Given the description of an element on the screen output the (x, y) to click on. 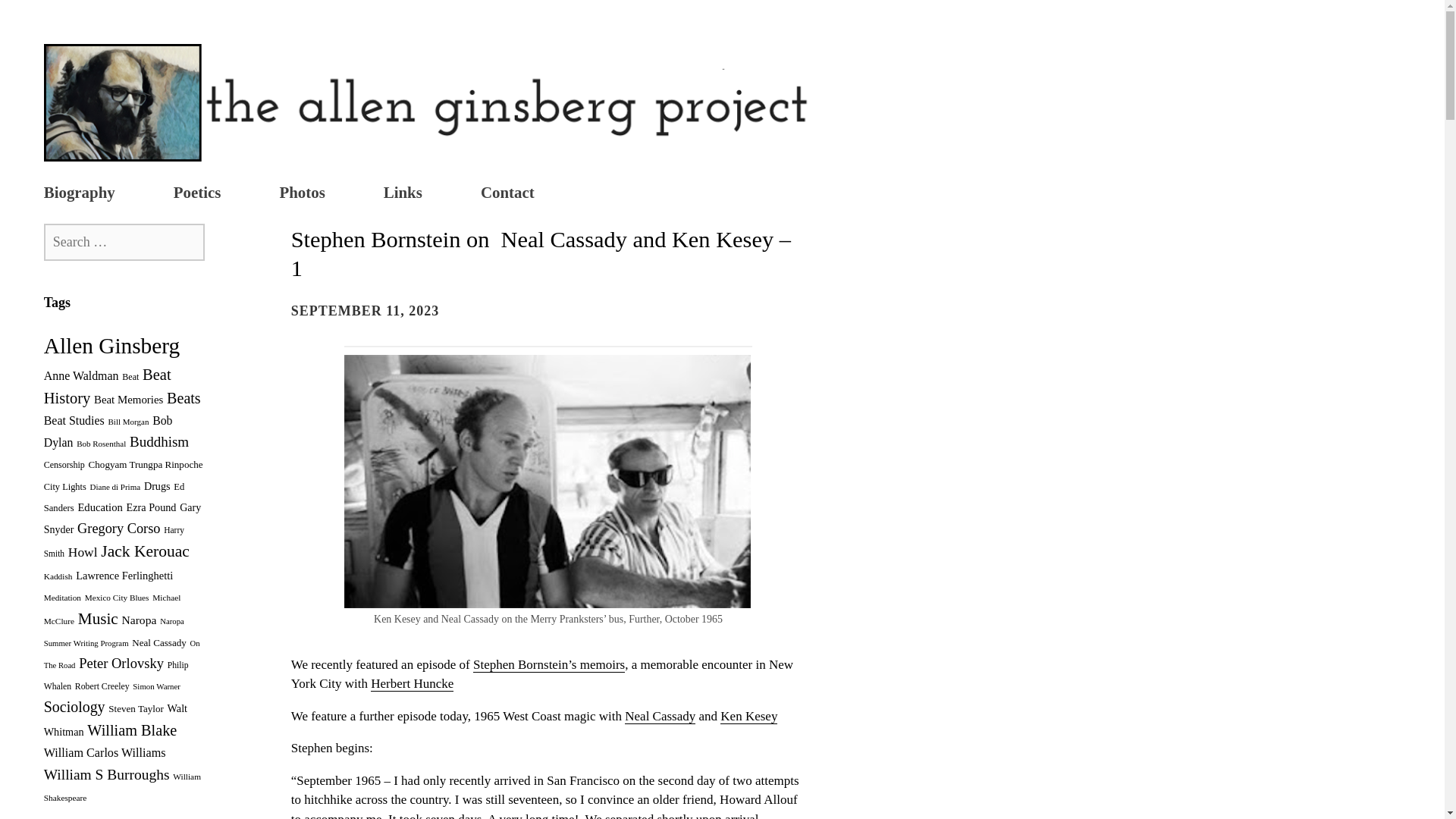
Biography (79, 193)
Photos (301, 193)
Contact (507, 193)
Herbert Huncke (411, 683)
Ken Kesey (748, 716)
SEPTEMBER 11, 2023 (365, 310)
Poetics (197, 193)
Neal Cassady (659, 716)
